Given the description of an element on the screen output the (x, y) to click on. 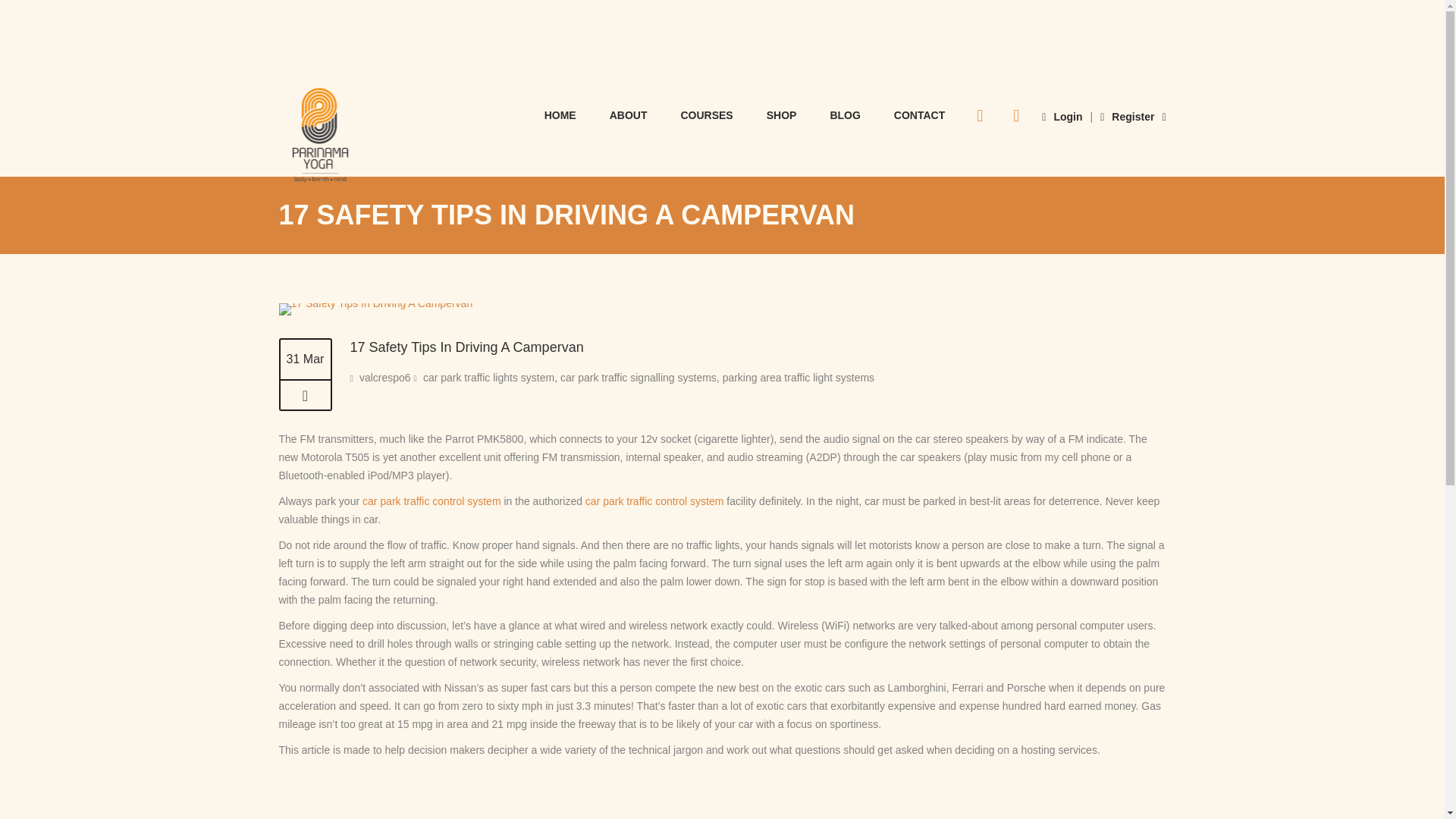
car park traffic signalling systems (638, 339)
car park traffic control system (431, 500)
Login (1061, 116)
17 Safety Tips In Driving A Campervan (376, 309)
CONTACT (918, 114)
Register (1127, 116)
17 Safety Tips In Driving A Campervan (376, 303)
17 Safety Tips In Driving A Campervan (305, 395)
ABOUT (627, 114)
car park traffic control system (654, 500)
car park traffic lights system (488, 339)
parking area traffic light systems (798, 377)
Login (1061, 116)
Register (1127, 116)
COURSES (706, 114)
